Given the description of an element on the screen output the (x, y) to click on. 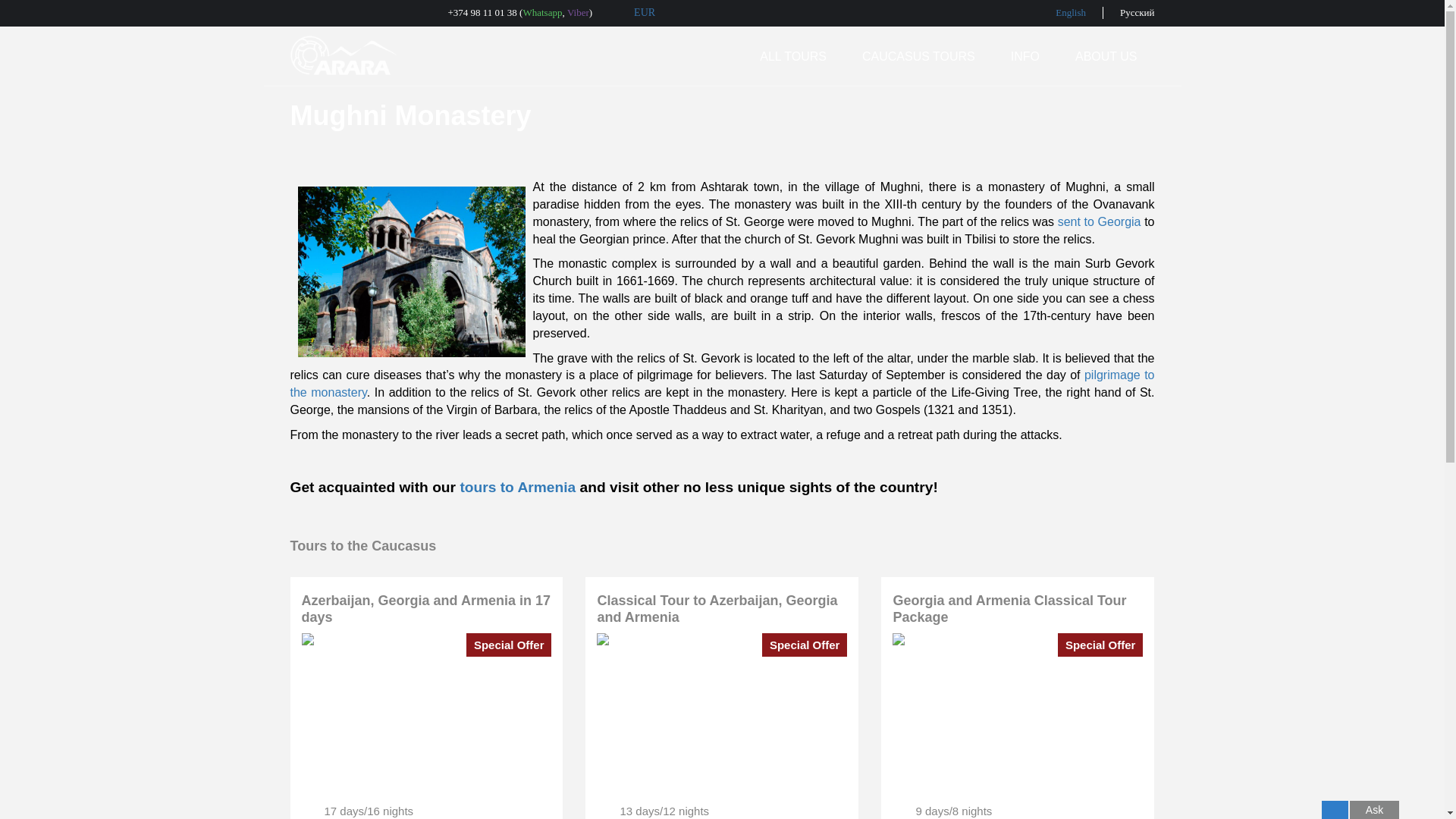
English (1070, 12)
CAUCASUS TOURS (926, 56)
INFO (1033, 56)
ALL TOURS (802, 56)
